Given the description of an element on the screen output the (x, y) to click on. 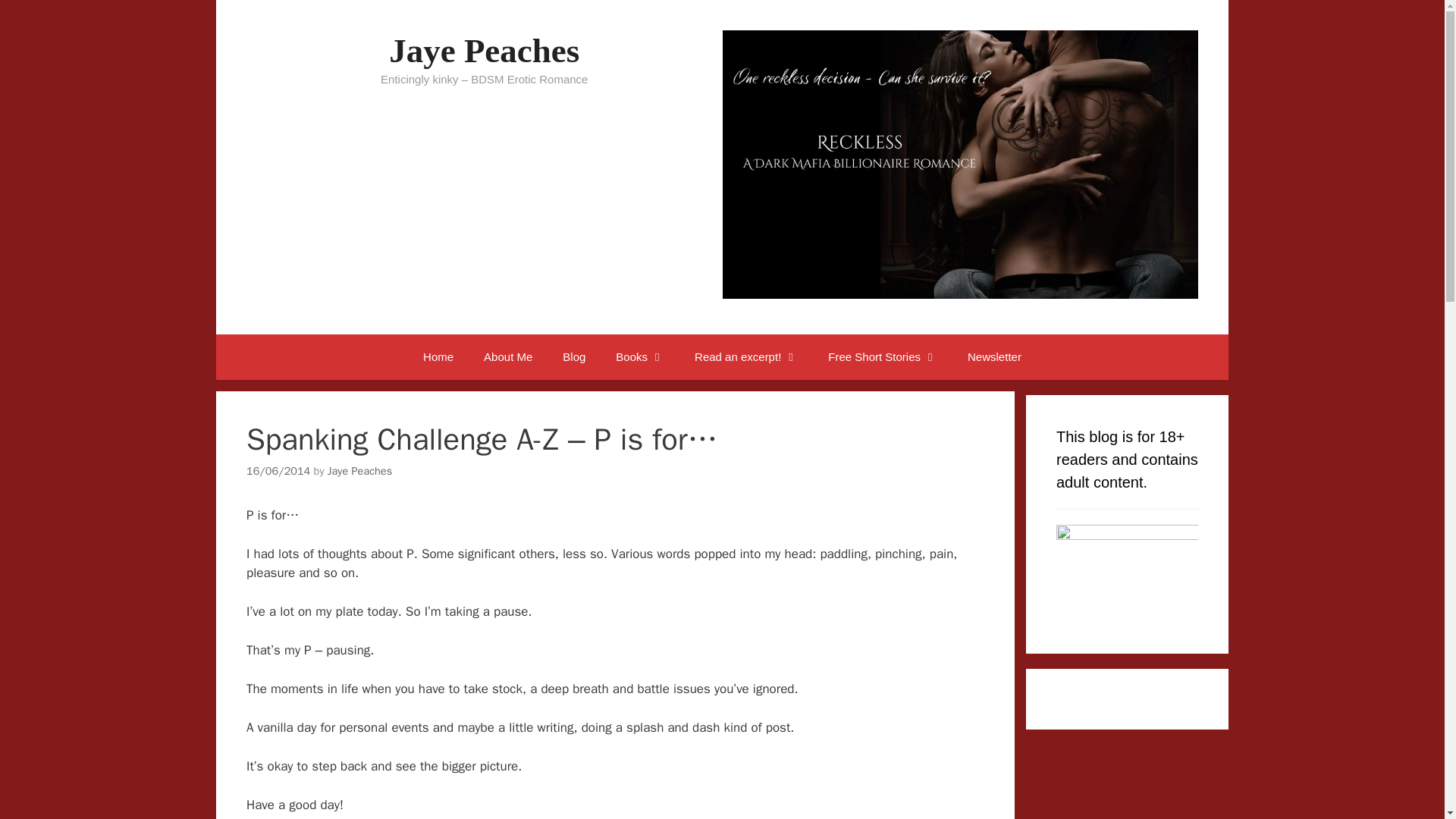
Blog (573, 357)
Jaye Peaches (483, 50)
Books (639, 357)
Home (437, 357)
View all posts by Jaye Peaches (359, 470)
09:10 (278, 470)
About Me (507, 357)
